Given the description of an element on the screen output the (x, y) to click on. 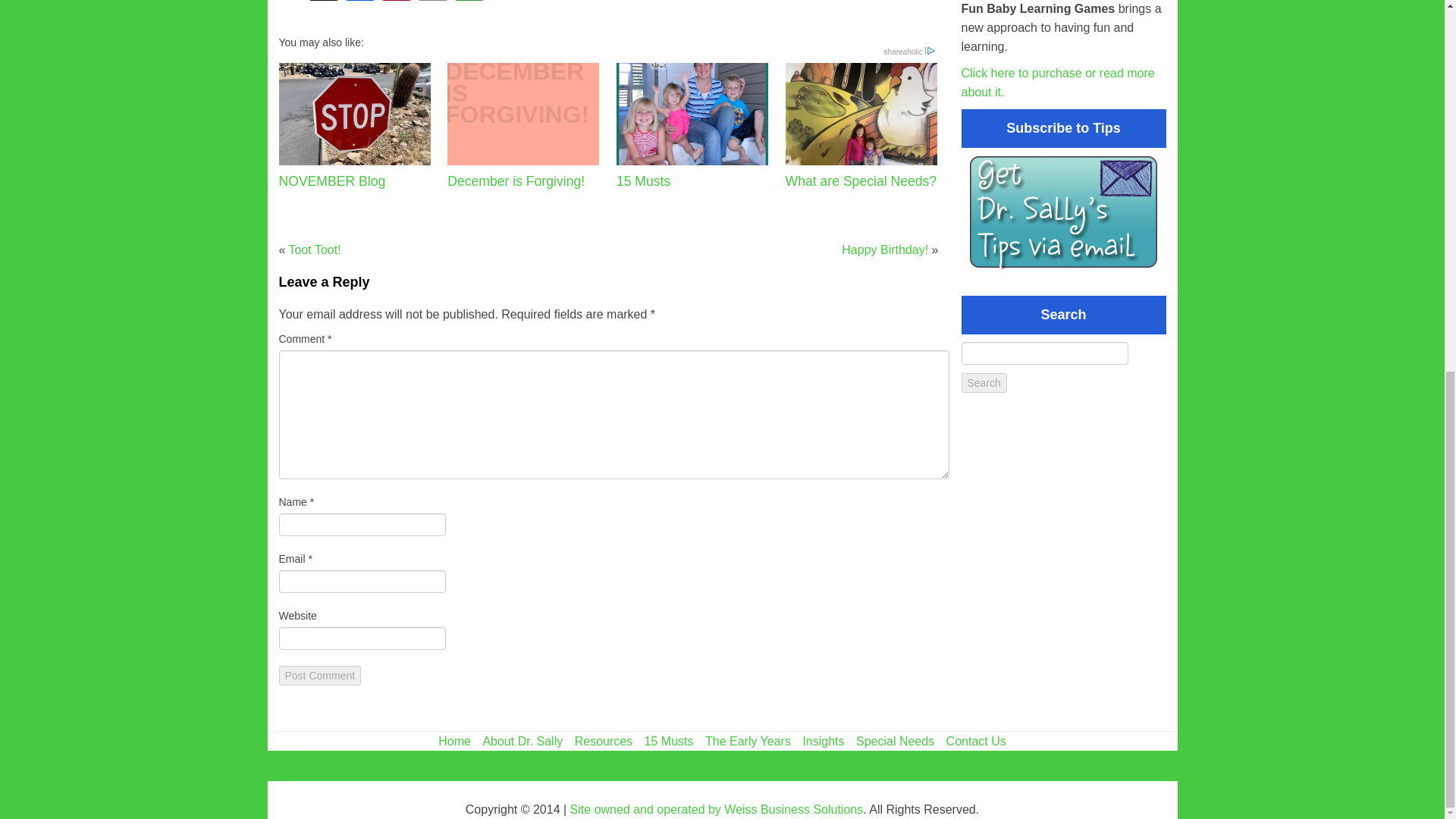
NOVEMBER Blog (354, 126)
What are Special Needs? (861, 126)
Facebook (358, 2)
Pinterest (395, 2)
More Options (467, 2)
Post Comment (320, 675)
Search (983, 383)
December is Forgiving! (522, 126)
Email This (431, 2)
Website Tools by Shareaholic (909, 51)
15 Musts (691, 126)
